Given the description of an element on the screen output the (x, y) to click on. 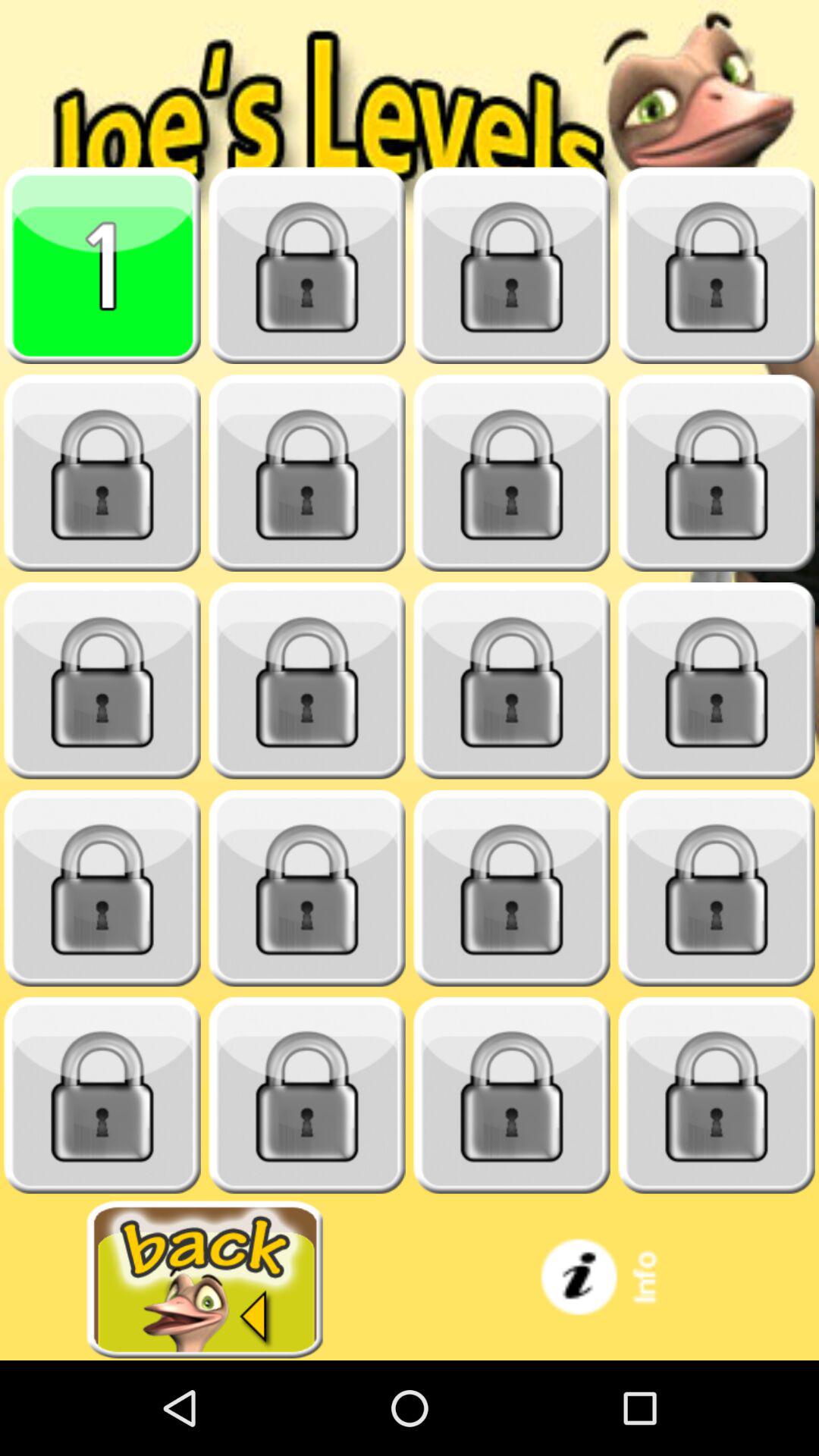
select level (716, 473)
